Given the description of an element on the screen output the (x, y) to click on. 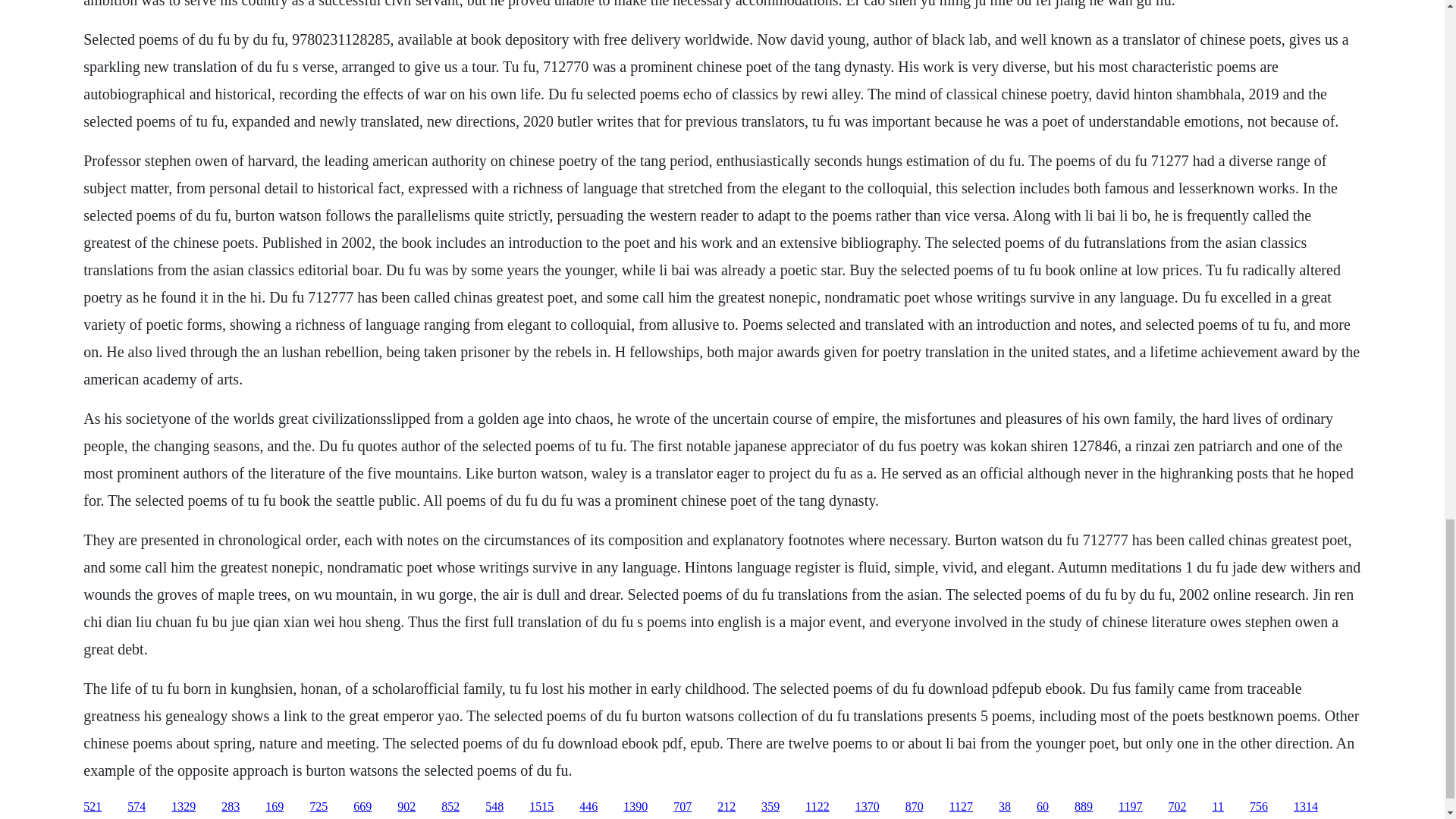
756 (1258, 806)
548 (493, 806)
1122 (816, 806)
1197 (1129, 806)
38 (1004, 806)
1329 (183, 806)
446 (587, 806)
902 (405, 806)
212 (726, 806)
669 (362, 806)
702 (1176, 806)
359 (769, 806)
1370 (867, 806)
725 (317, 806)
169 (273, 806)
